Given the description of an element on the screen output the (x, y) to click on. 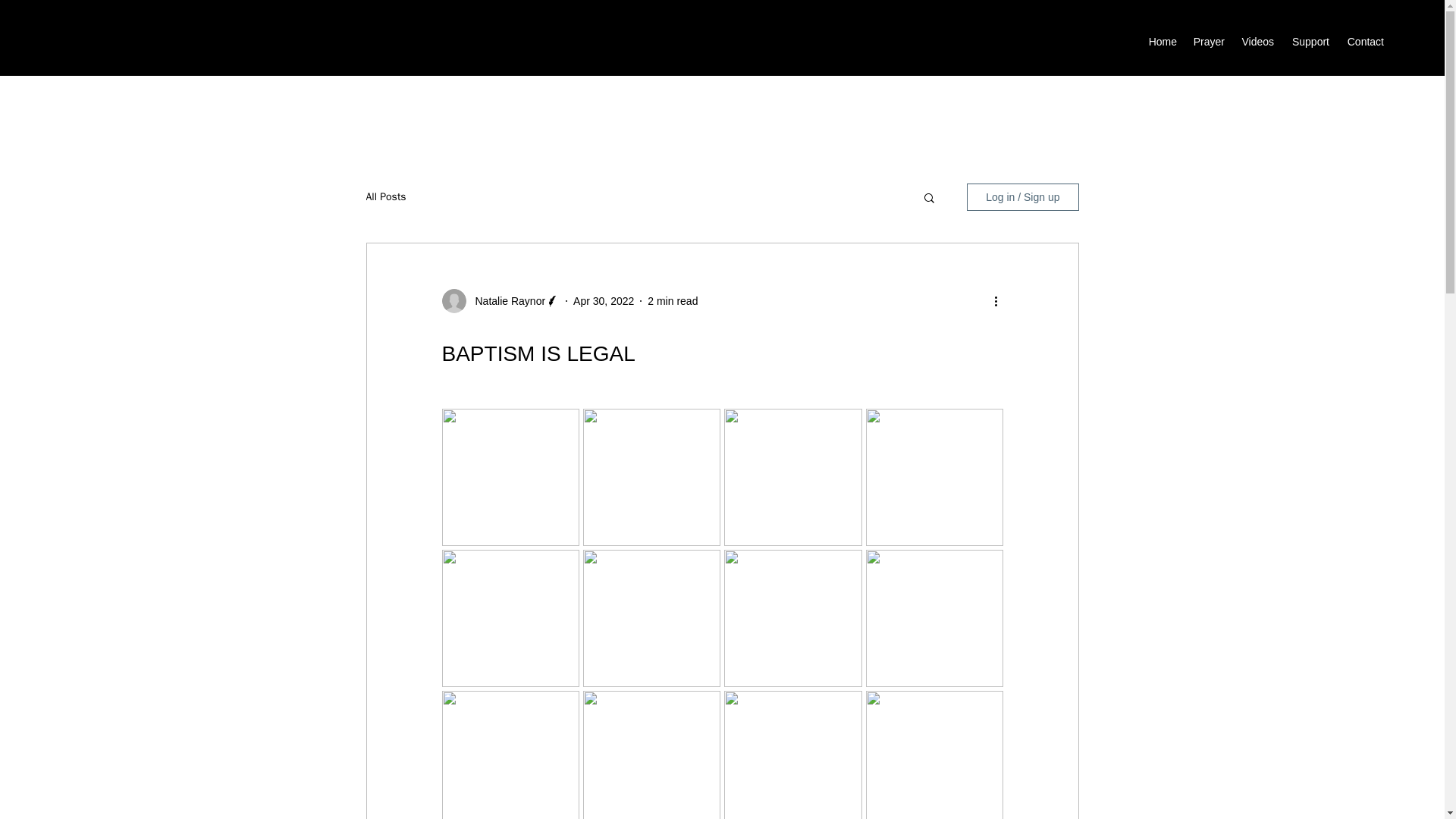
Home (1162, 41)
2 min read (672, 300)
Prayer (1208, 41)
Apr 30, 2022 (603, 300)
Natalie Raynor (504, 300)
Videos (1256, 41)
All Posts (385, 196)
Support (1308, 41)
Contact (1363, 41)
